Given the description of an element on the screen output the (x, y) to click on. 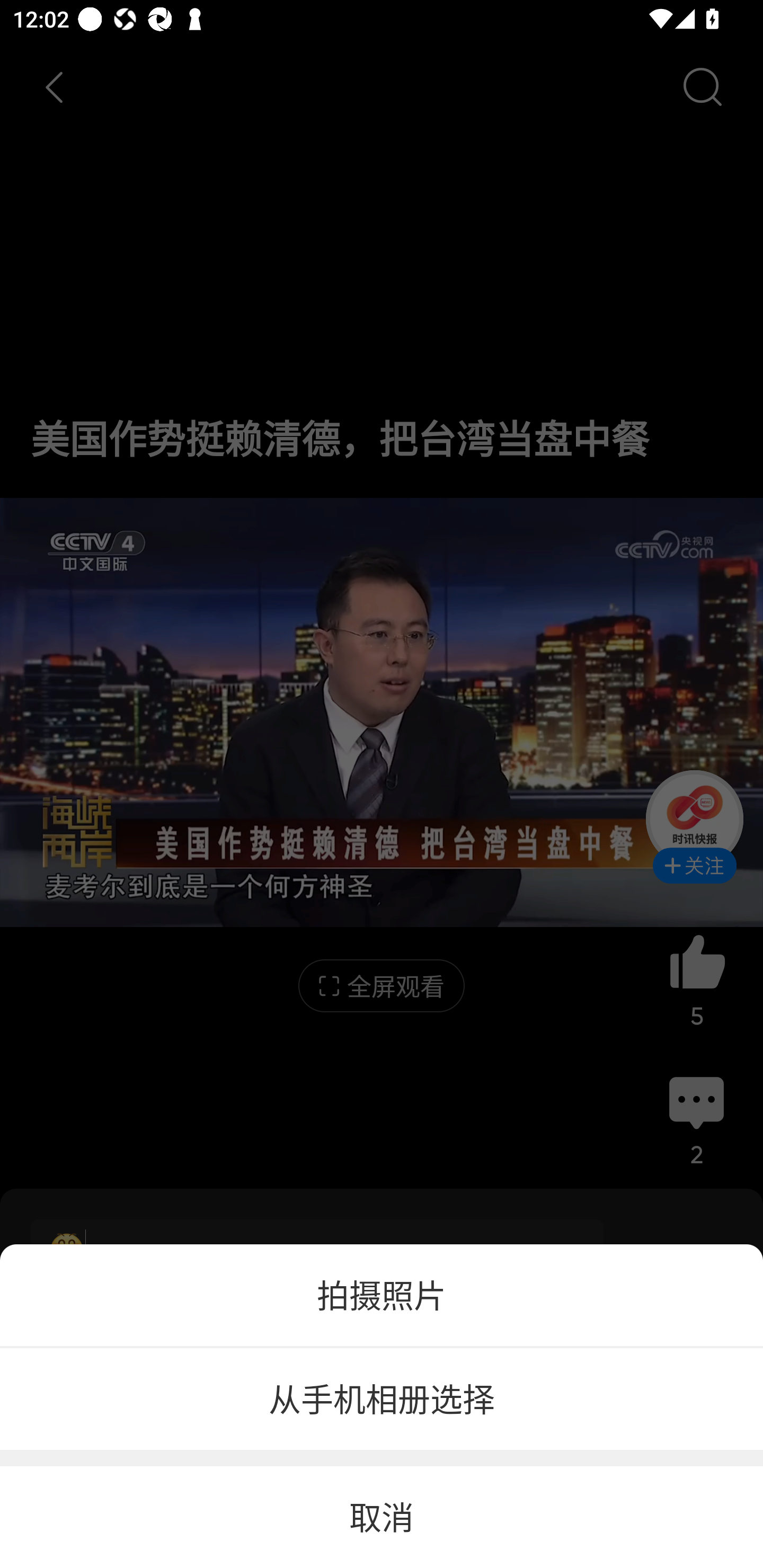
拍摄照片 (381, 1294)
从手机相册选择 (381, 1399)
取消 (381, 1517)
